Given the description of an element on the screen output the (x, y) to click on. 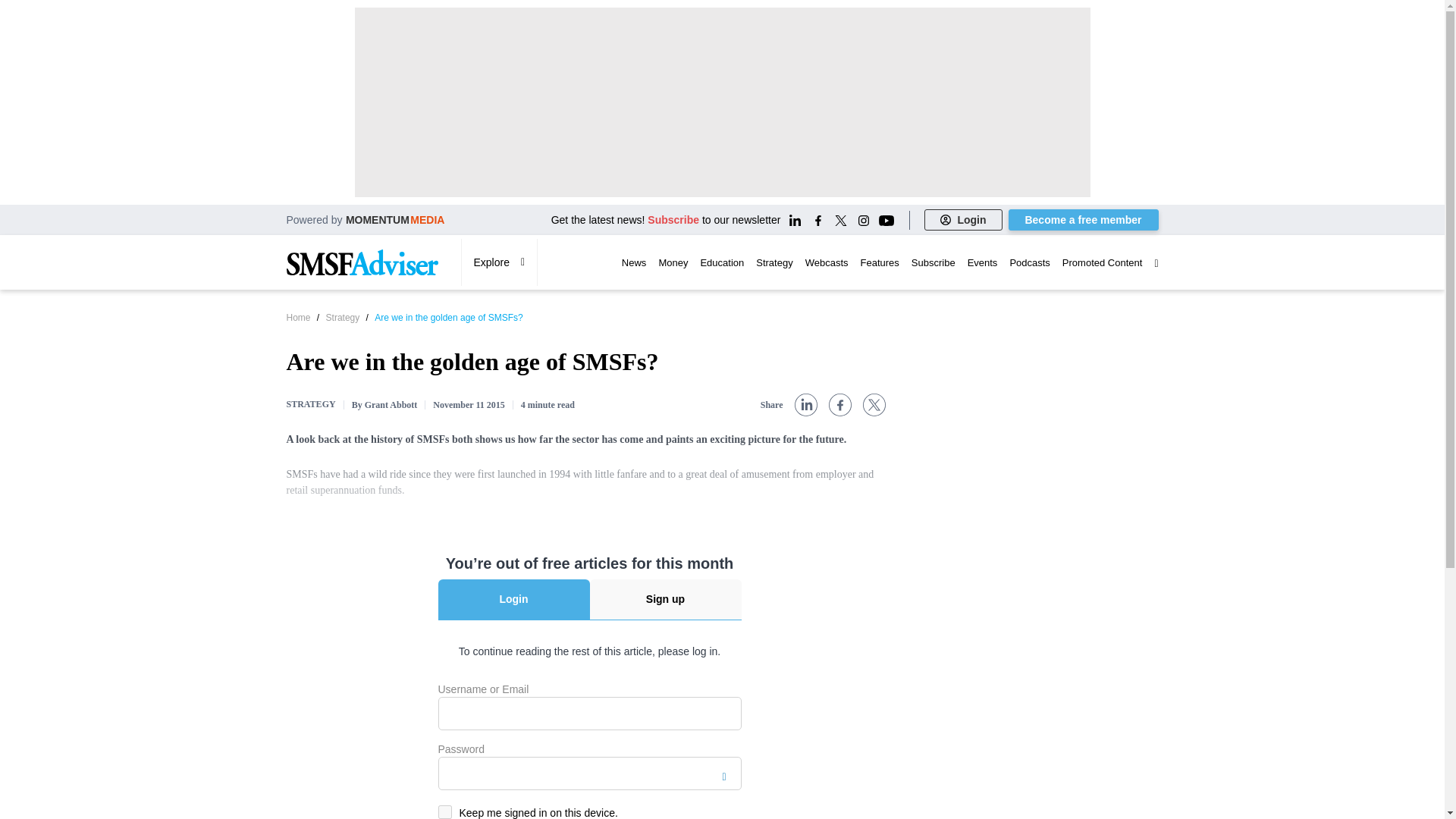
Become a free member (1083, 219)
on (444, 812)
MOMENTUM MEDIA (395, 219)
Login (962, 219)
Subscribe (672, 219)
